Given the description of an element on the screen output the (x, y) to click on. 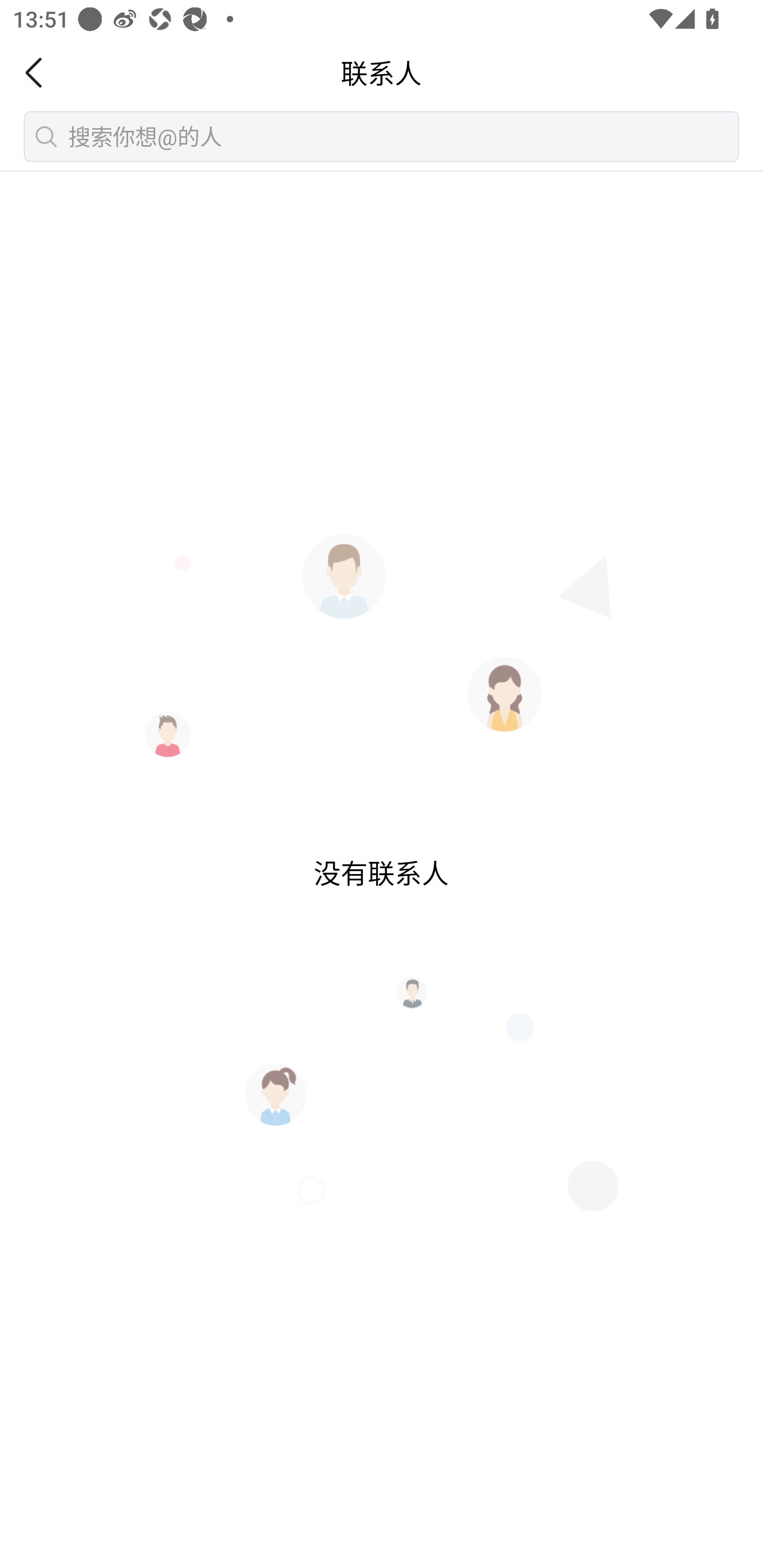
返回 (39, 72)
搜索你想@的人 (381, 136)
